Given the description of an element on the screen output the (x, y) to click on. 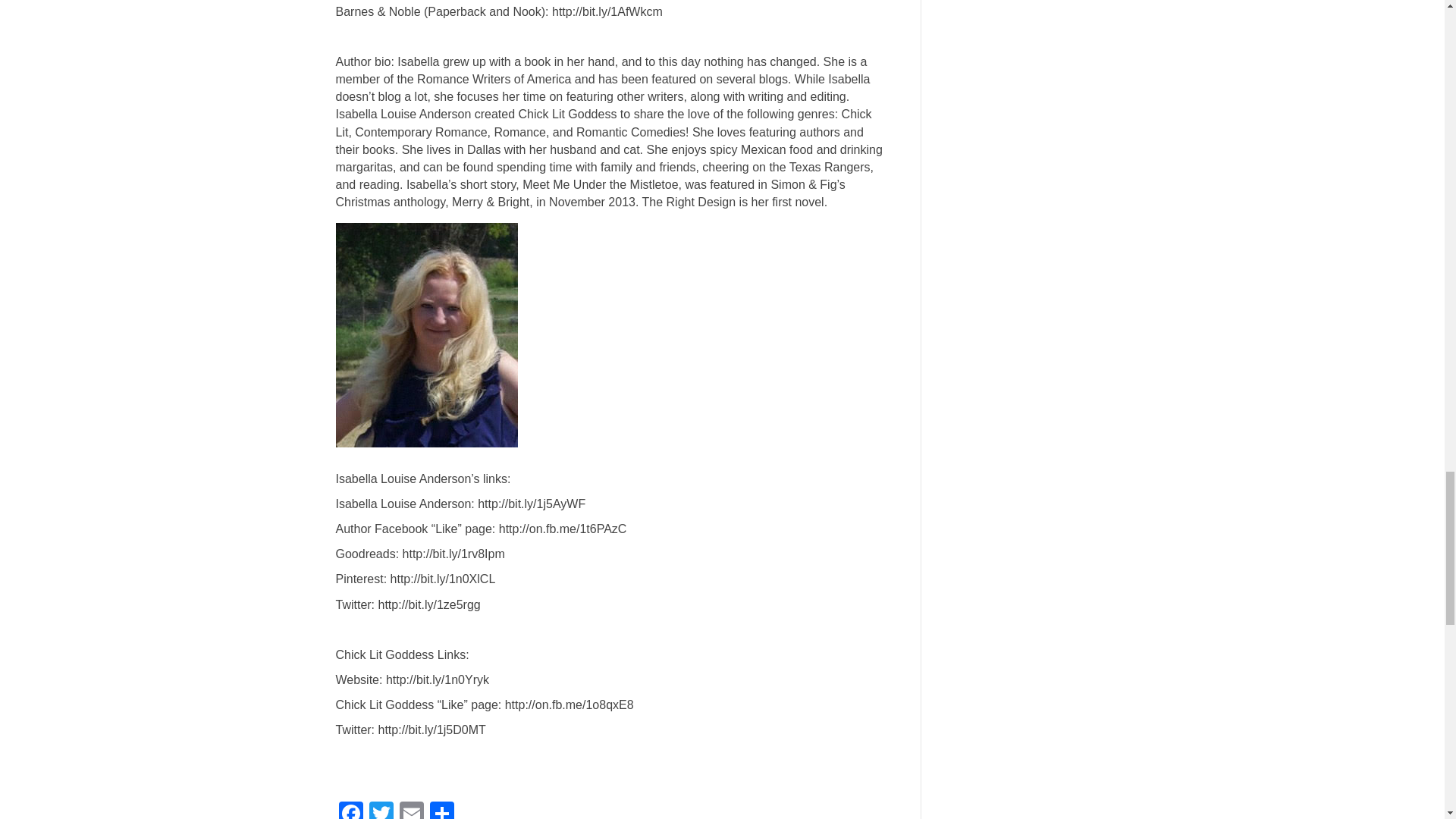
Email (411, 810)
Email (411, 810)
Twitter (380, 810)
Twitter (380, 810)
Facebook (349, 810)
Facebook (349, 810)
